Given the description of an element on the screen output the (x, y) to click on. 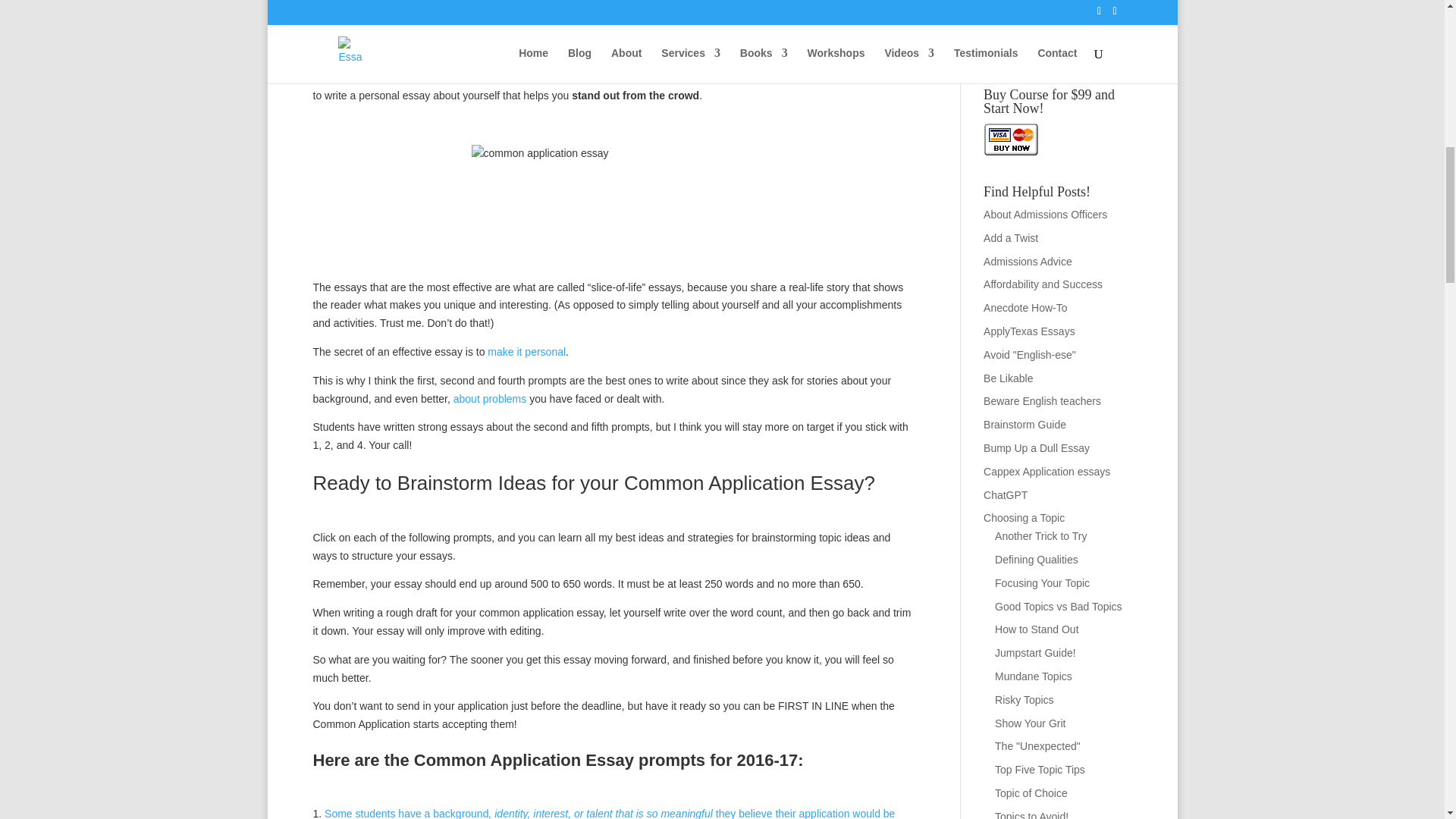
about problems (489, 398)
make it personal (526, 351)
